Given the description of an element on the screen output the (x, y) to click on. 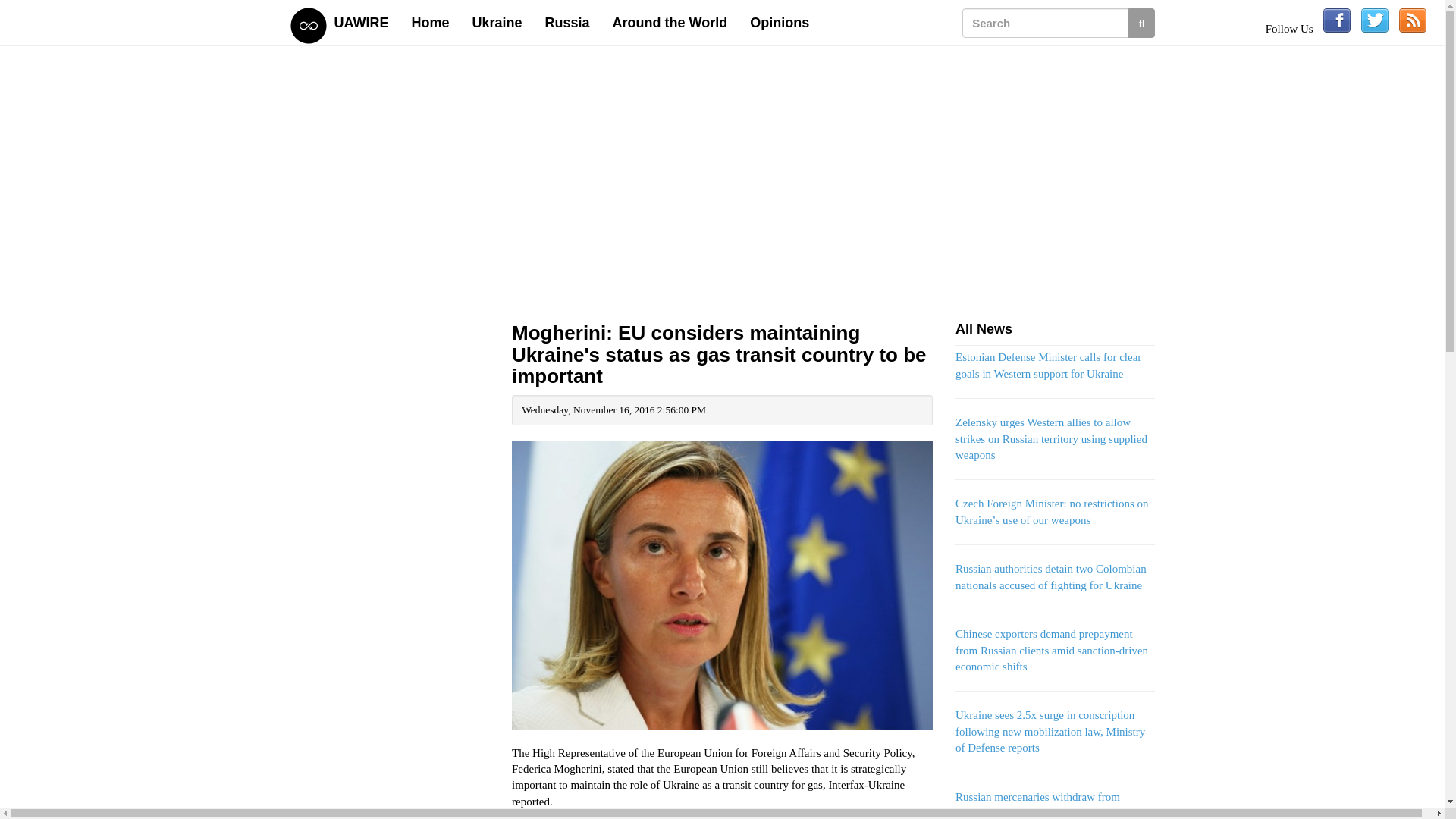
UAWIRE (361, 22)
Advertisement (389, 790)
Ukraine (497, 22)
Home (430, 22)
Around the World (670, 22)
